Given the description of an element on the screen output the (x, y) to click on. 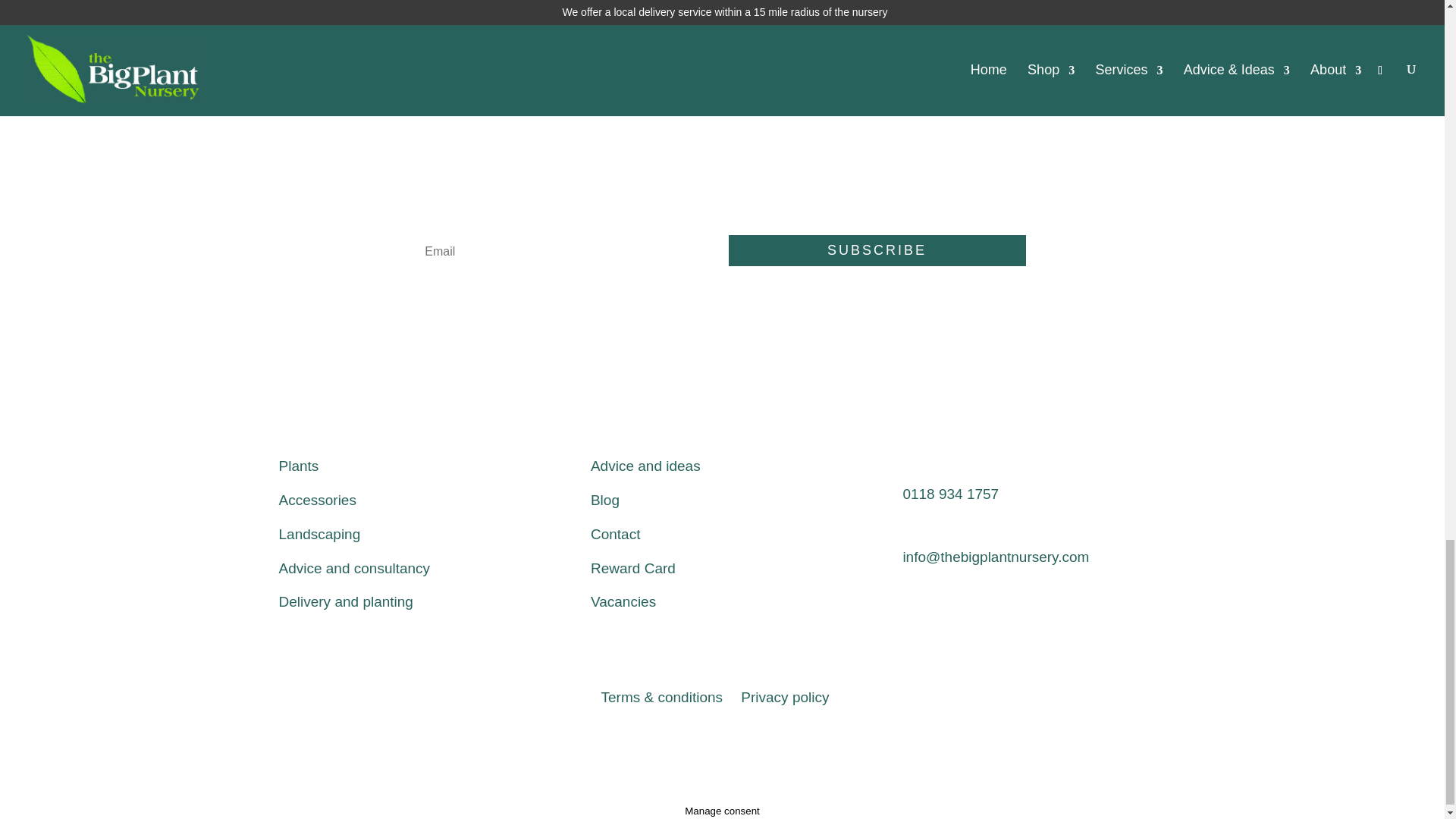
Landscaping (320, 534)
Plants (298, 465)
Advice and consultancy (354, 568)
Delivery and planting (346, 601)
Accessories (317, 499)
